Given the description of an element on the screen output the (x, y) to click on. 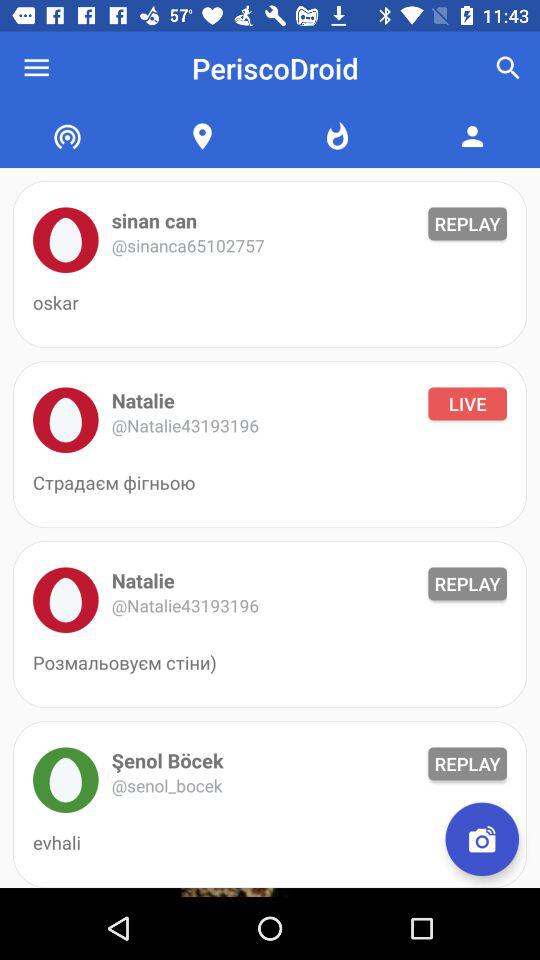
profile picture icon (65, 420)
